Given the description of an element on the screen output the (x, y) to click on. 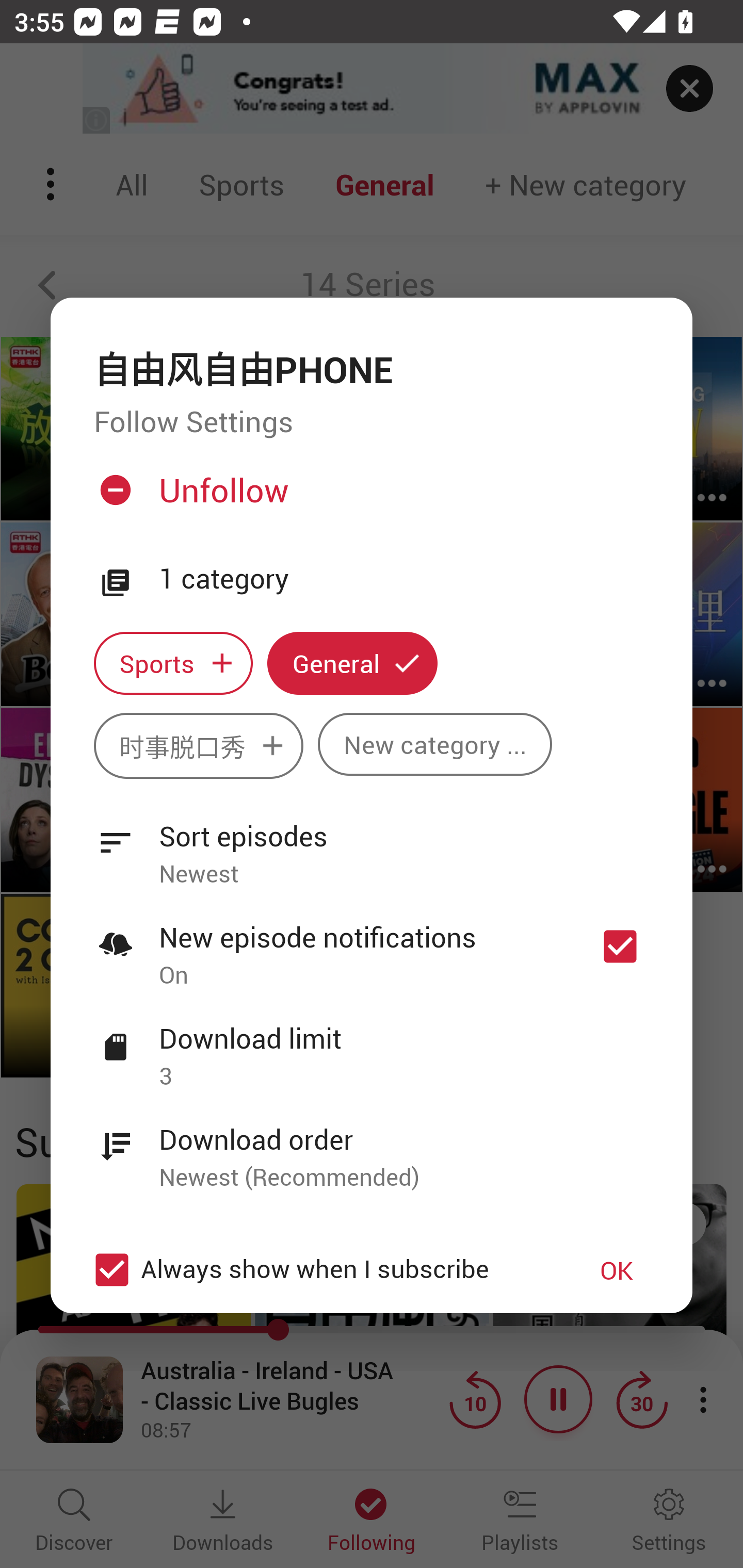
Unfollow (369, 498)
1 category (404, 578)
Sports (172, 662)
General (352, 662)
时事脱口秀 (198, 746)
New category ... (435, 744)
Sort episodes Newest (371, 843)
New episode notifications (620, 946)
Download limit 3 (371, 1045)
Download order Newest (Recommended) (371, 1146)
OK (616, 1269)
Always show when I subscribe (320, 1269)
